Given the description of an element on the screen output the (x, y) to click on. 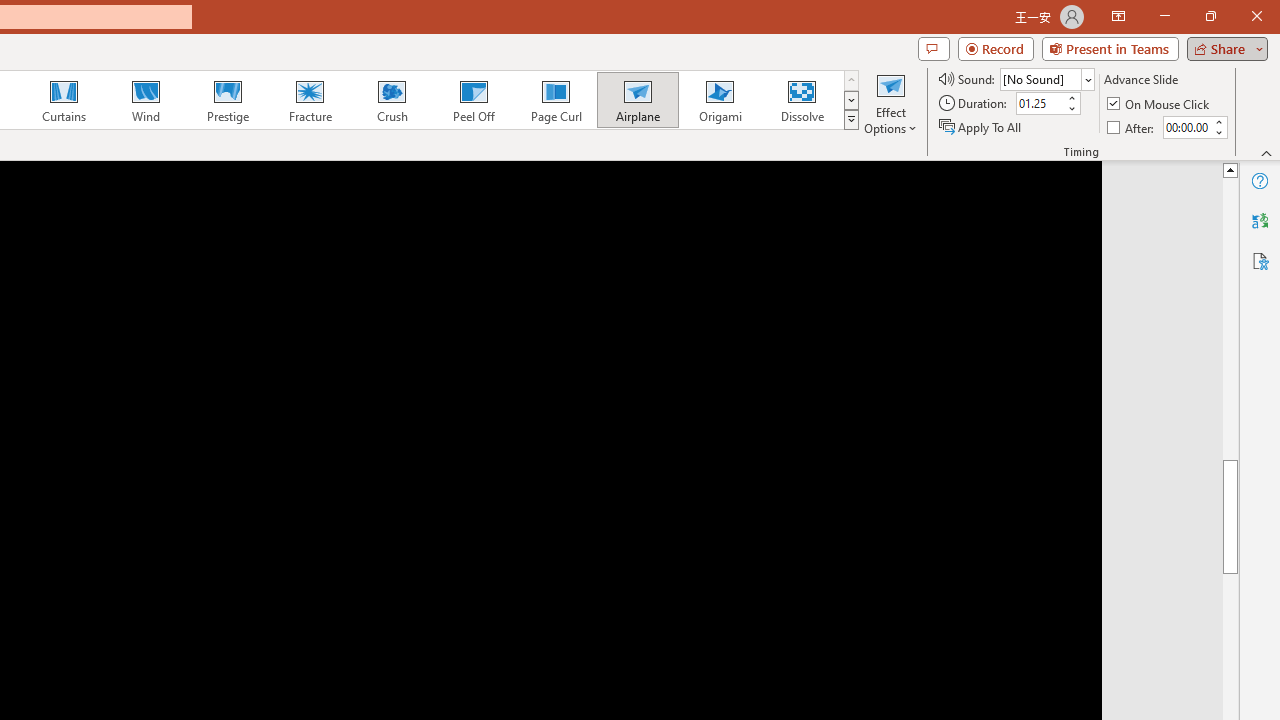
Page Curl (555, 100)
Fracture (309, 100)
Duration (1039, 103)
Dissolve (802, 100)
